Given the description of an element on the screen output the (x, y) to click on. 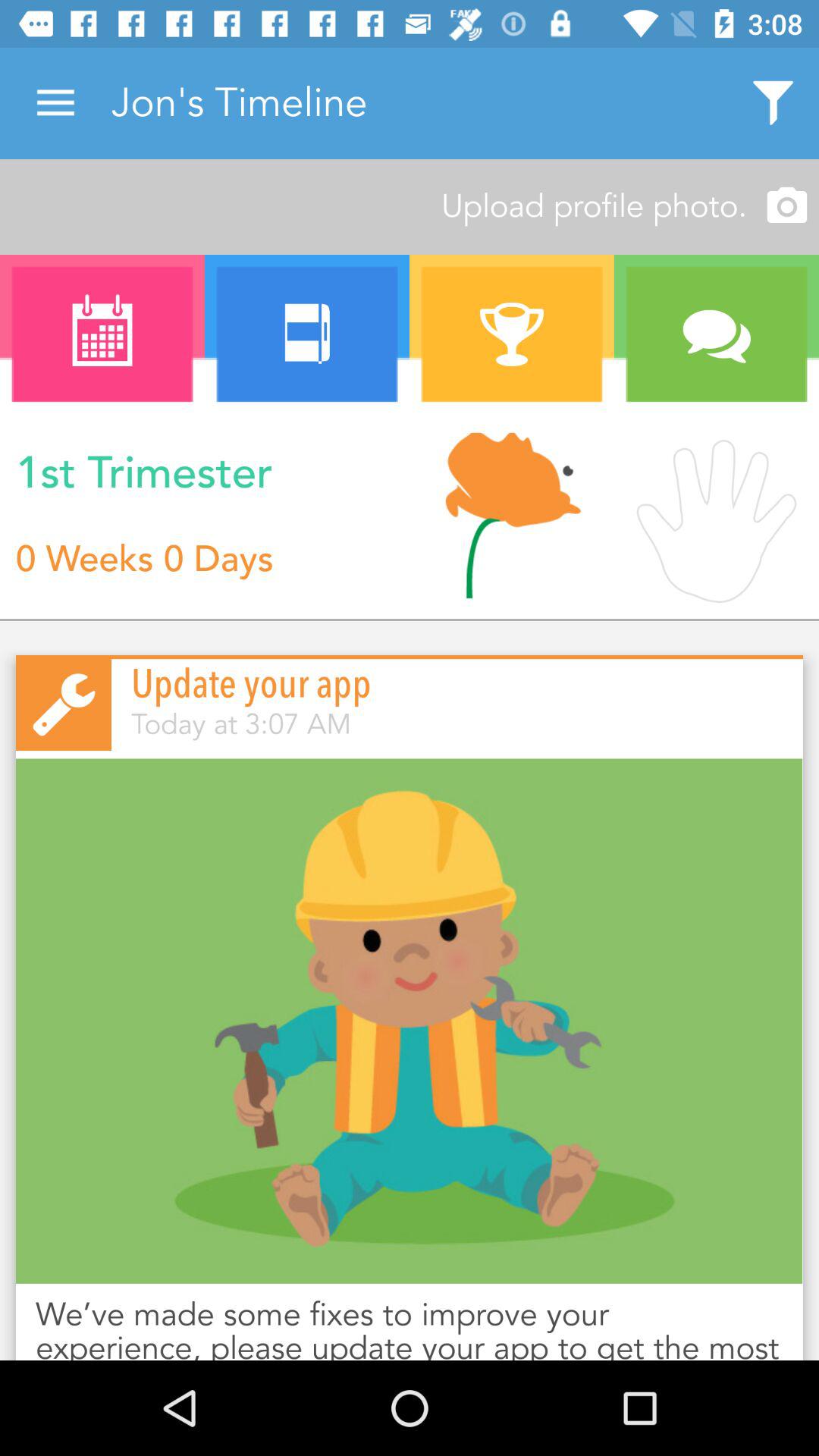
jump to upload profile photo. item (409, 206)
